Given the description of an element on the screen output the (x, y) to click on. 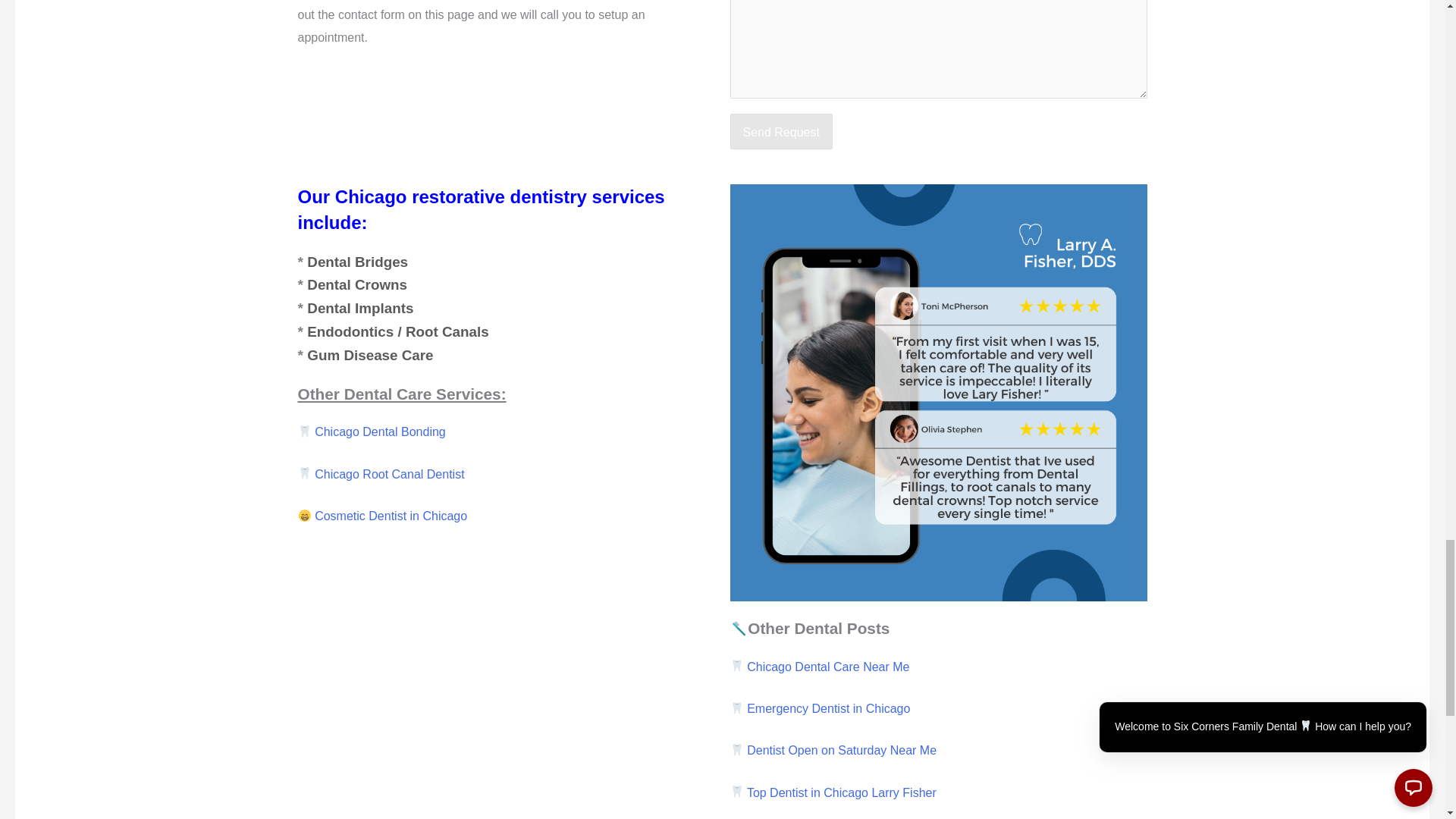
Gum Disease (369, 355)
Bridges (357, 261)
Dental Implants (360, 308)
Dental Crowns (357, 284)
